Given the description of an element on the screen output the (x, y) to click on. 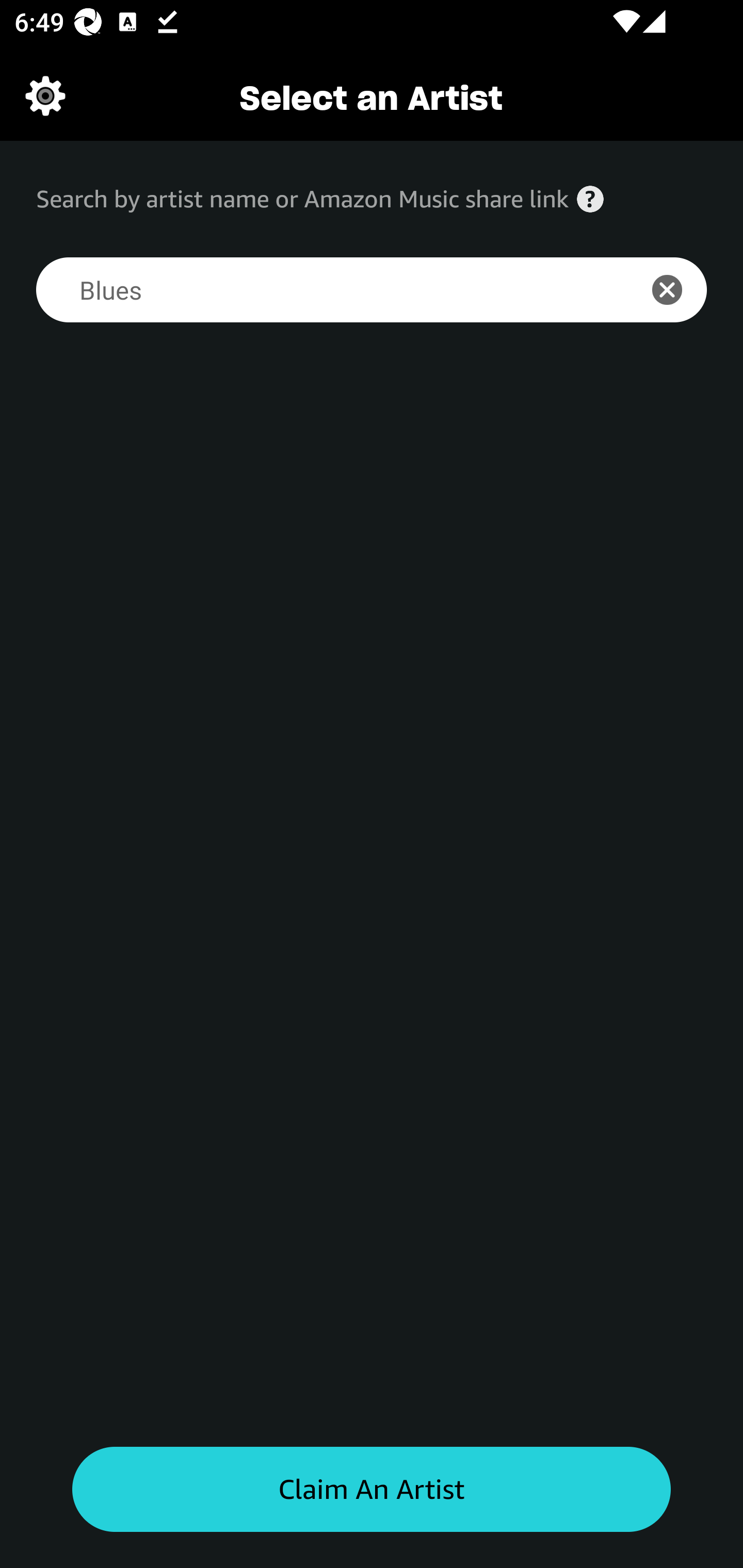
Help  icon (589, 199)
Blues Search for an artist search bar (324, 290)
 icon (677, 290)
Claim an artist button Claim An Artist (371, 1489)
